Given the description of an element on the screen output the (x, y) to click on. 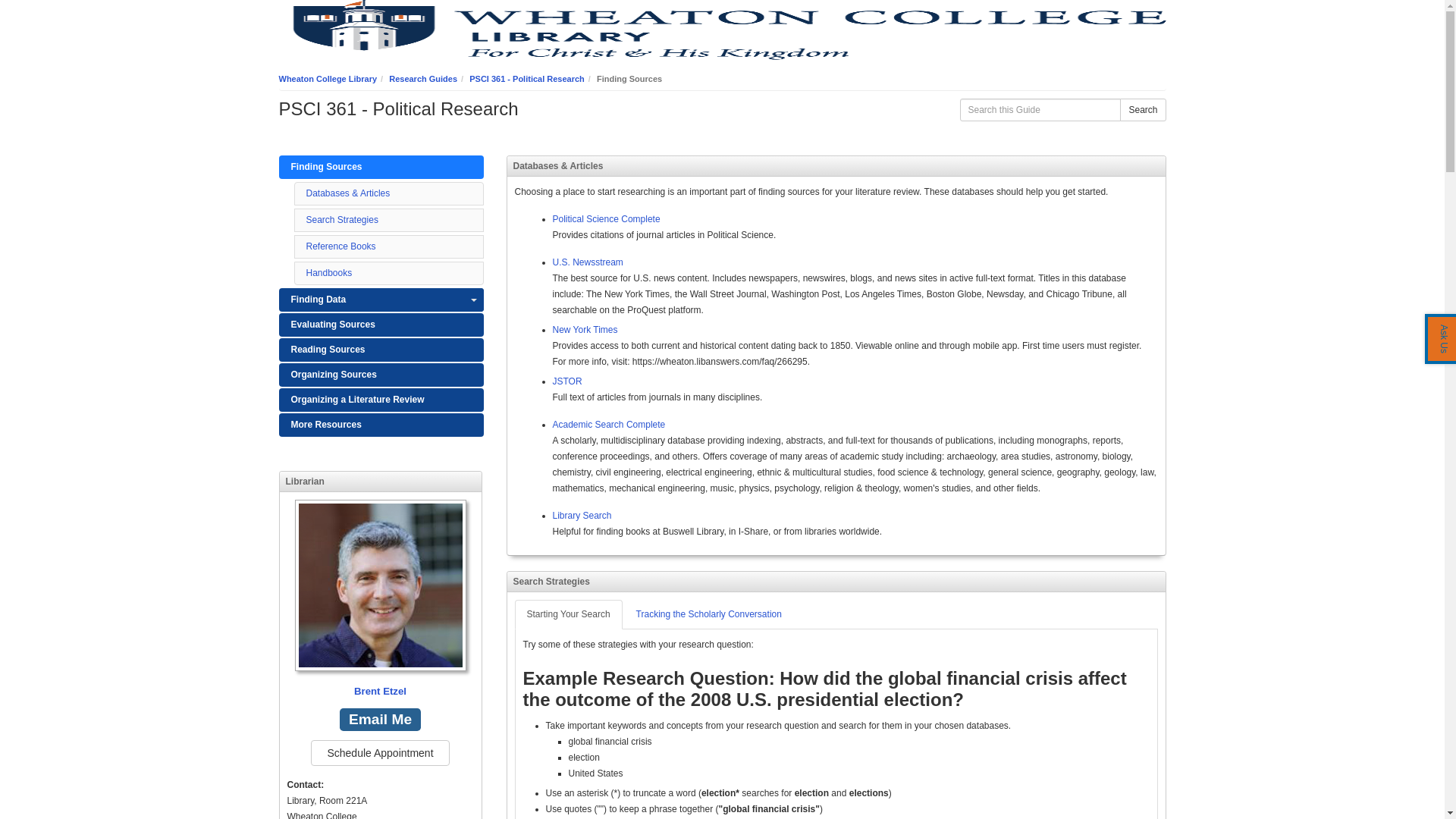
Reading Sources (381, 349)
PSCI 361 - Political Research (526, 78)
Reference Books (340, 245)
Library Search (581, 515)
Starting Your Search (567, 614)
Email Me (379, 720)
Schedule Appointment (379, 752)
Academic Search Complete (608, 424)
Handbooks (328, 272)
Research Guides (422, 78)
Toggle Dropdown (473, 300)
Evaluating Sources (381, 324)
U.S. Newsstream (587, 262)
Organizing Sources (381, 374)
JSTOR (565, 380)
